Given the description of an element on the screen output the (x, y) to click on. 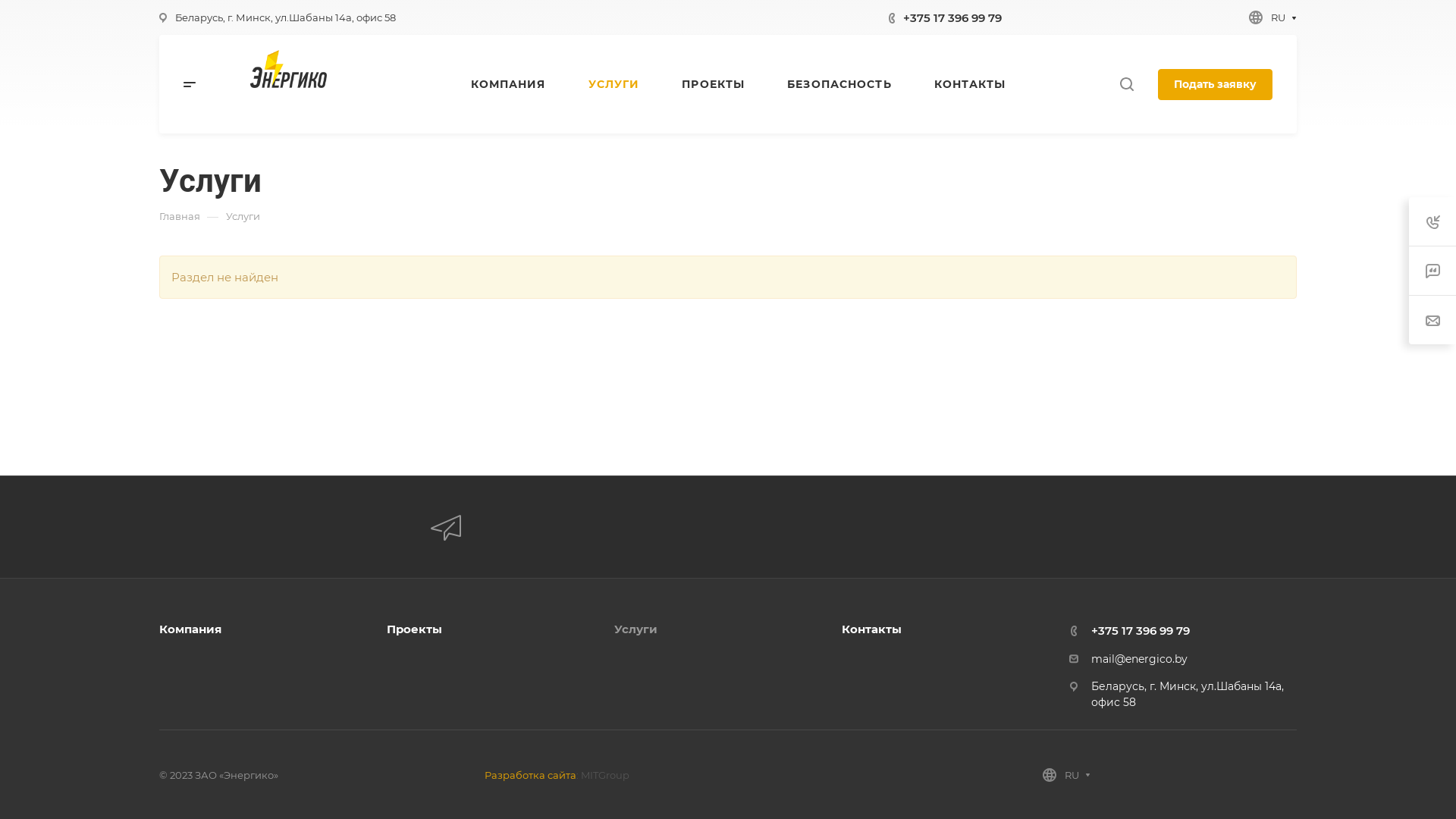
energico.by Element type: hover (288, 68)
+375 17 396 99 79 Element type: text (1140, 630)
mail@energico.by Element type: text (1139, 658)
+375 17 396 99 79 Element type: text (952, 16)
